Given the description of an element on the screen output the (x, y) to click on. 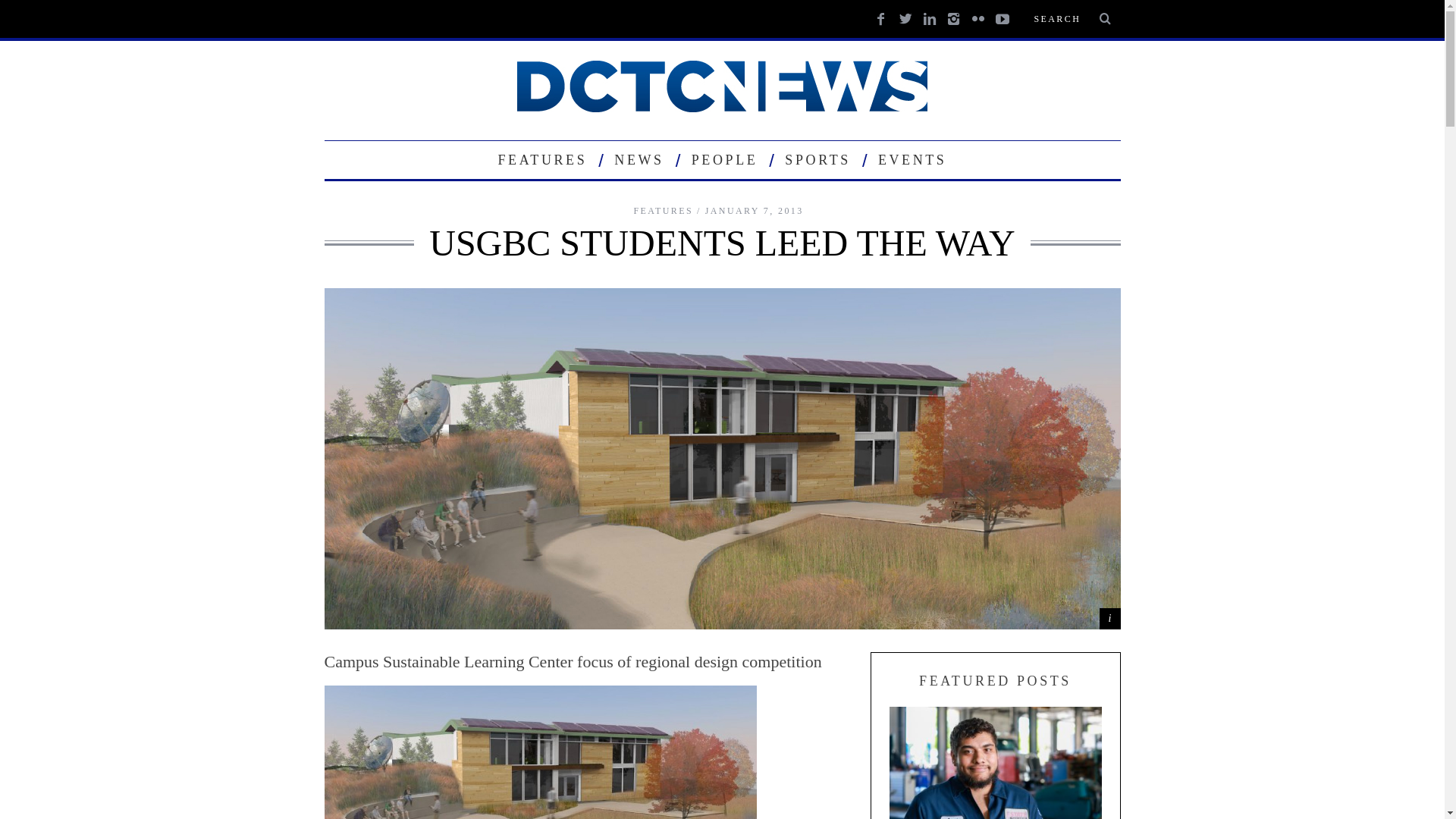
Sports (817, 159)
People (724, 159)
Features (542, 159)
Search (1071, 18)
Events (912, 159)
News (638, 159)
